Given the description of an element on the screen output the (x, y) to click on. 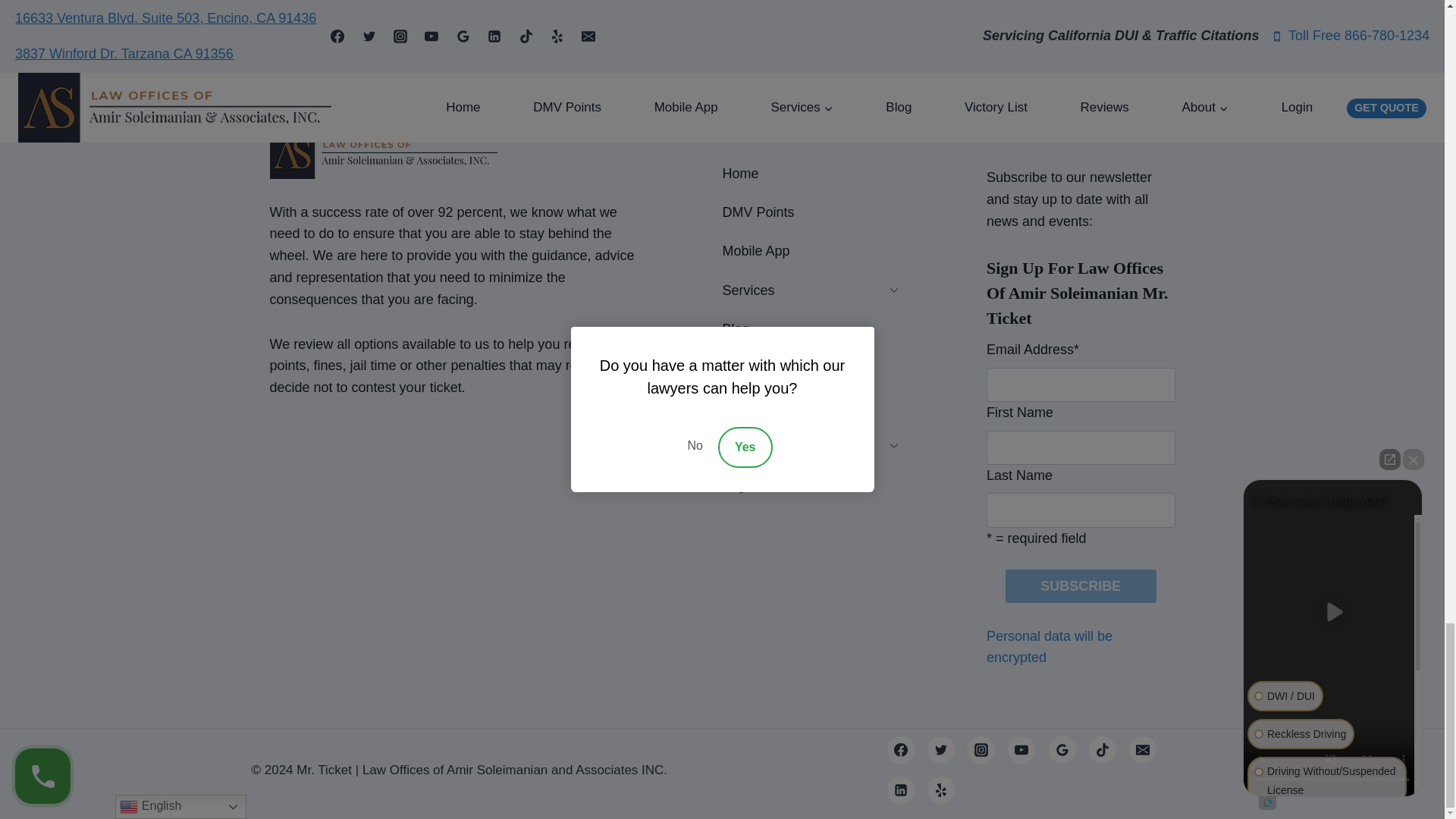
Subscribe (1081, 585)
